Given the description of an element on the screen output the (x, y) to click on. 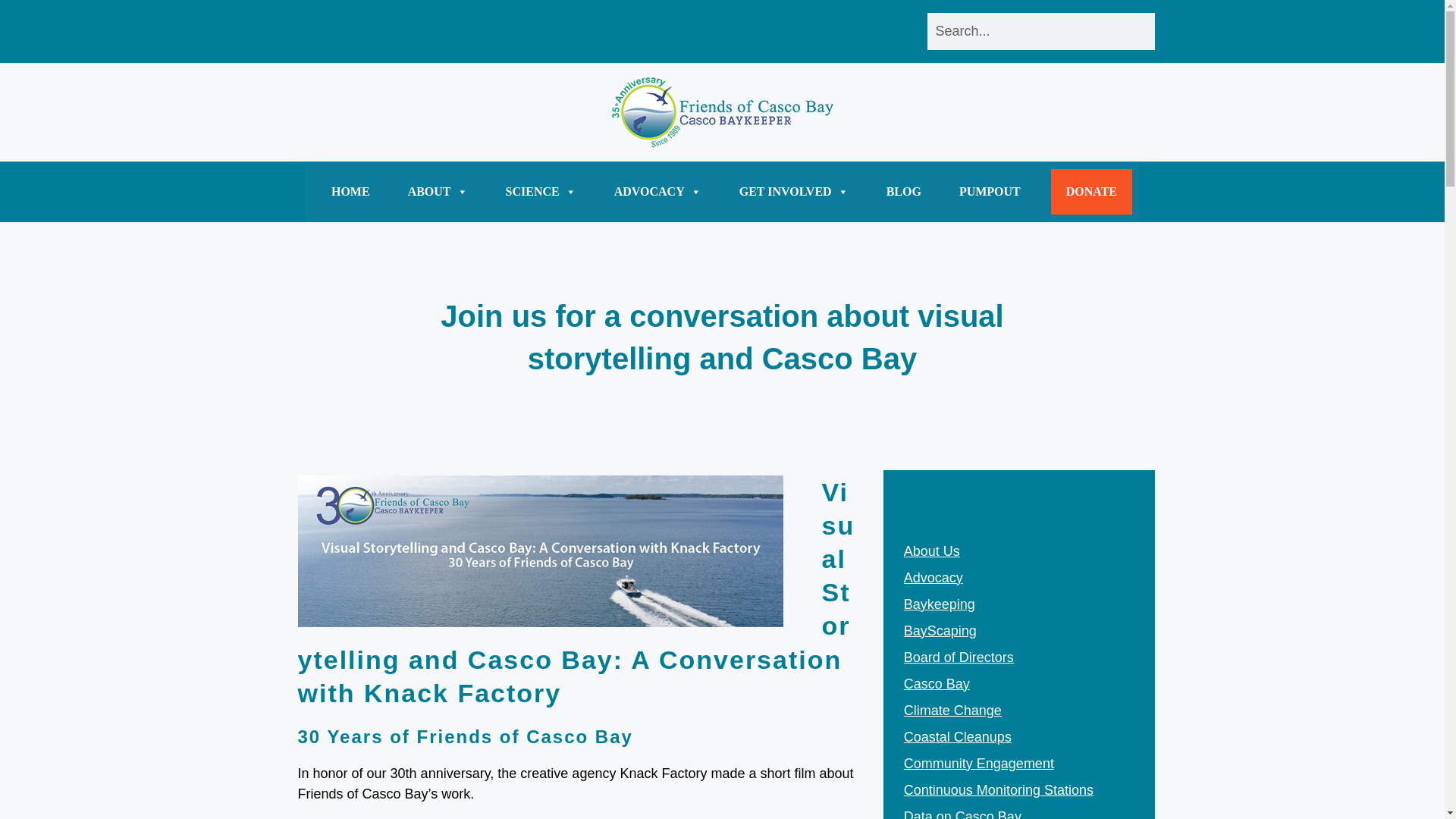
SCIENCE (540, 191)
ADVOCACY (657, 191)
HOME (350, 191)
ABOUT (437, 191)
GET INVOLVED (793, 191)
